Given the description of an element on the screen output the (x, y) to click on. 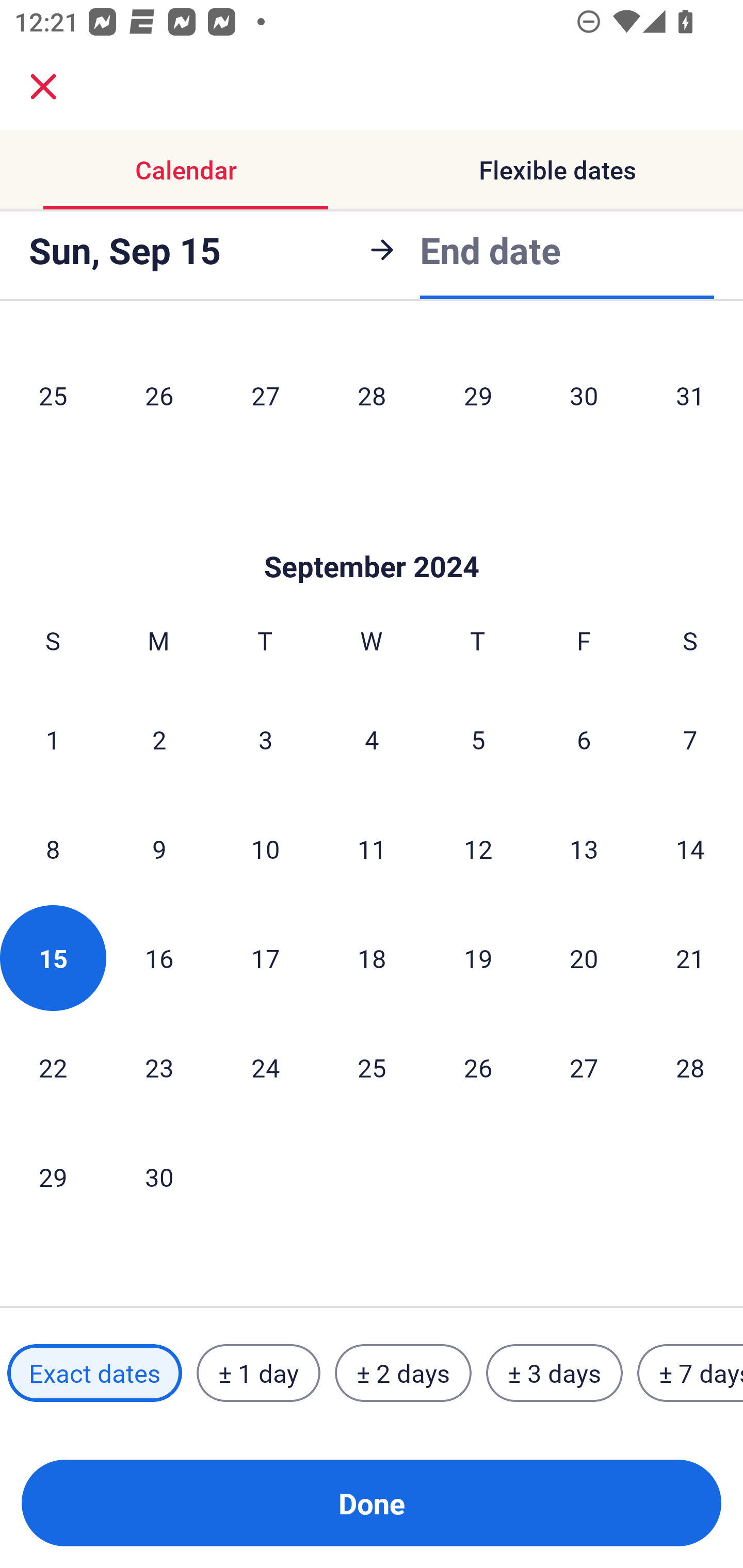
close. (43, 86)
Flexible dates (557, 170)
End date (489, 246)
25 Sunday, August 25, 2024 (53, 394)
26 Monday, August 26, 2024 (159, 394)
27 Tuesday, August 27, 2024 (265, 394)
28 Wednesday, August 28, 2024 (371, 394)
29 Thursday, August 29, 2024 (477, 394)
30 Friday, August 30, 2024 (584, 394)
31 Saturday, August 31, 2024 (690, 394)
Skip to Done (371, 535)
1 Sunday, September 1, 2024 (53, 738)
2 Monday, September 2, 2024 (159, 738)
3 Tuesday, September 3, 2024 (265, 738)
4 Wednesday, September 4, 2024 (371, 738)
5 Thursday, September 5, 2024 (477, 738)
6 Friday, September 6, 2024 (584, 738)
7 Saturday, September 7, 2024 (690, 738)
8 Sunday, September 8, 2024 (53, 848)
9 Monday, September 9, 2024 (159, 848)
10 Tuesday, September 10, 2024 (265, 848)
11 Wednesday, September 11, 2024 (371, 848)
12 Thursday, September 12, 2024 (477, 848)
13 Friday, September 13, 2024 (584, 848)
14 Saturday, September 14, 2024 (690, 848)
16 Monday, September 16, 2024 (159, 957)
17 Tuesday, September 17, 2024 (265, 957)
18 Wednesday, September 18, 2024 (371, 957)
19 Thursday, September 19, 2024 (477, 957)
20 Friday, September 20, 2024 (584, 957)
21 Saturday, September 21, 2024 (690, 957)
22 Sunday, September 22, 2024 (53, 1066)
23 Monday, September 23, 2024 (159, 1066)
24 Tuesday, September 24, 2024 (265, 1066)
25 Wednesday, September 25, 2024 (371, 1066)
26 Thursday, September 26, 2024 (477, 1066)
27 Friday, September 27, 2024 (584, 1066)
28 Saturday, September 28, 2024 (690, 1066)
29 Sunday, September 29, 2024 (53, 1176)
30 Monday, September 30, 2024 (159, 1176)
Exact dates (94, 1372)
± 1 day (258, 1372)
± 2 days (403, 1372)
± 3 days (553, 1372)
± 7 days (690, 1372)
Done (371, 1502)
